Given the description of an element on the screen output the (x, y) to click on. 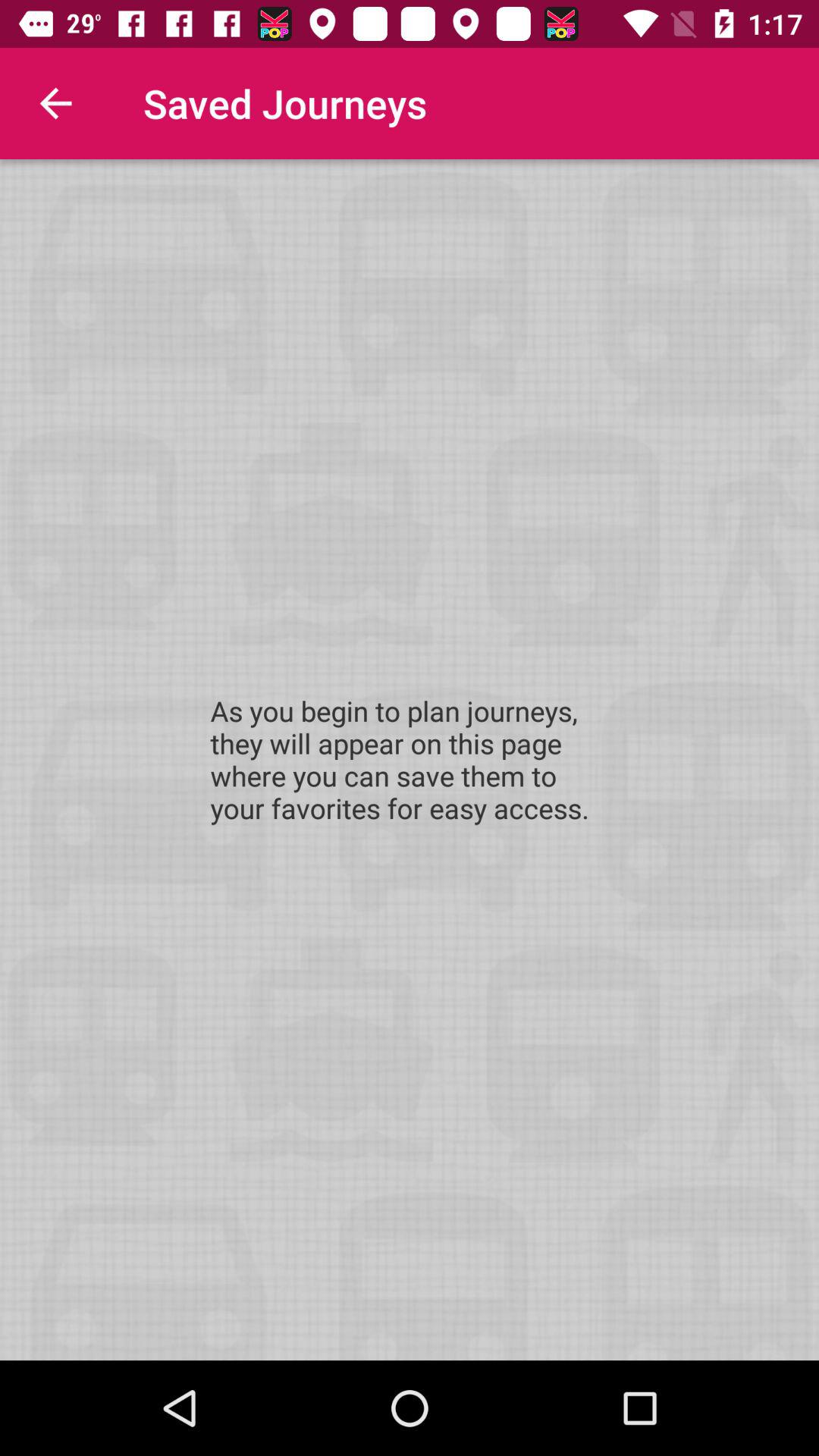
select item to the left of saved journeys icon (55, 103)
